Given the description of an element on the screen output the (x, y) to click on. 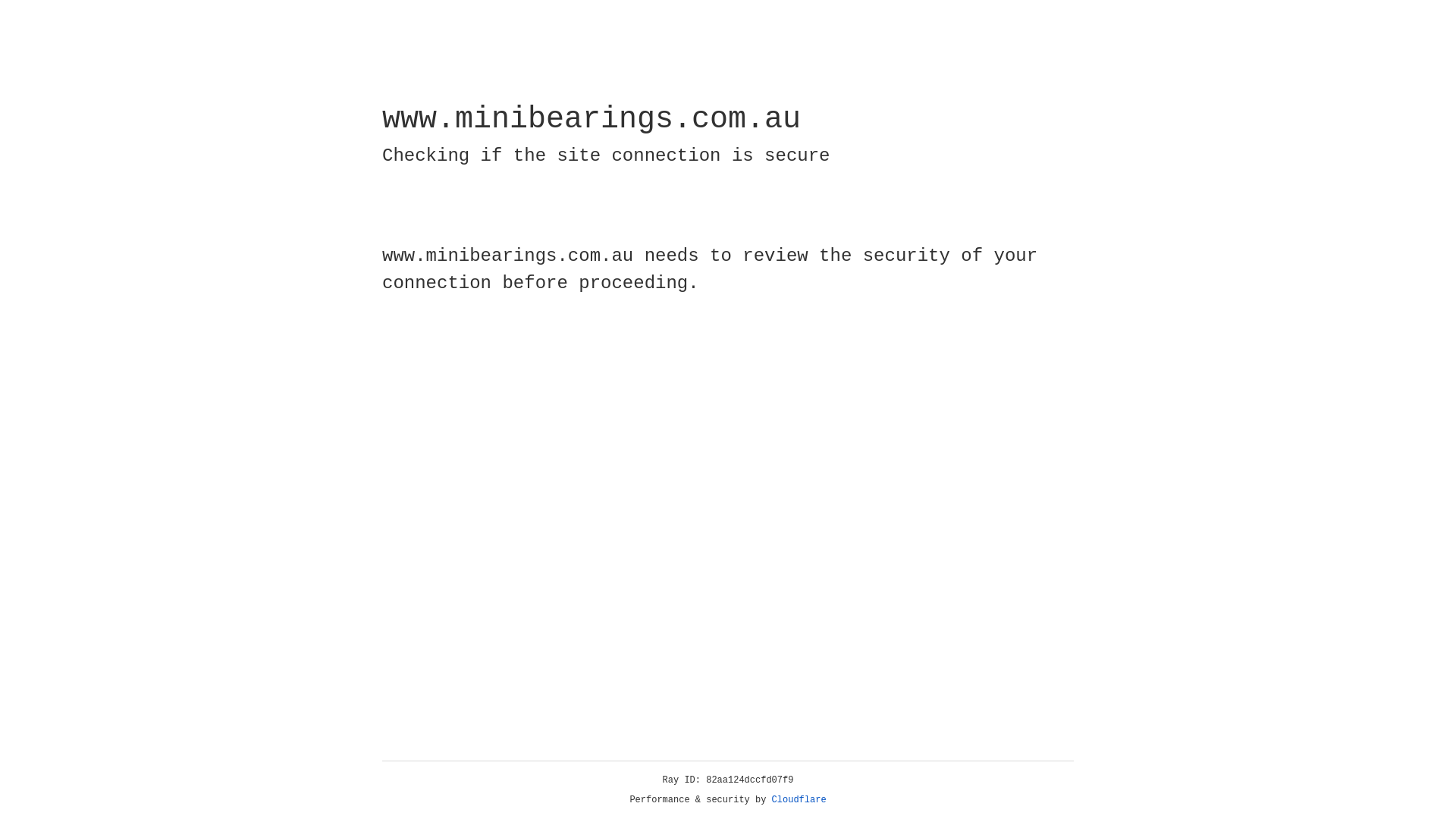
Cloudflare Element type: text (798, 799)
